Given the description of an element on the screen output the (x, y) to click on. 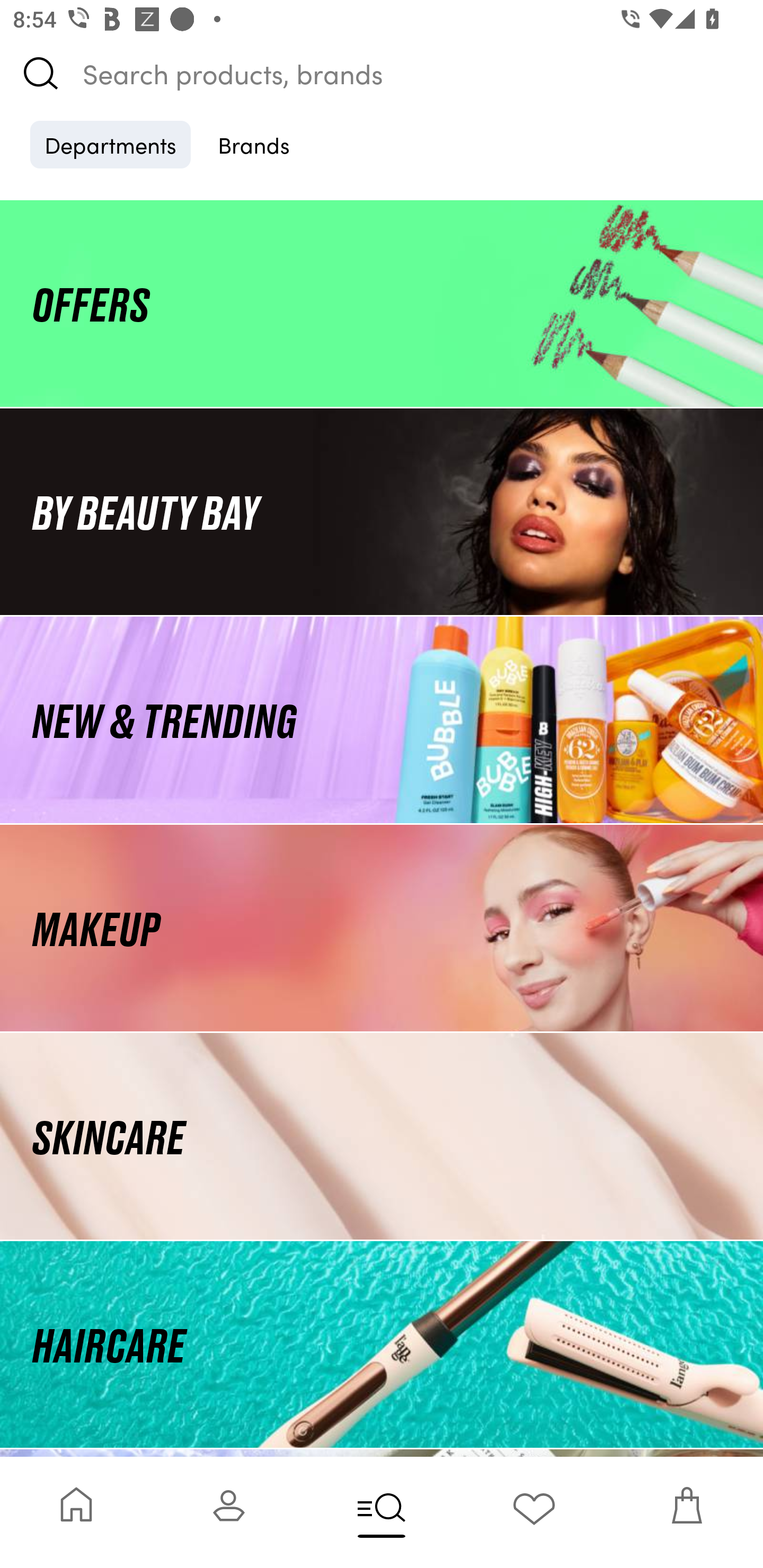
Search products, brands (381, 72)
Departments (110, 143)
Brands (253, 143)
OFFERS (381, 303)
BY BEAUTY BAY (381, 510)
NEW & TRENDING (381, 719)
MAKEUP (381, 927)
SKINCARE (381, 1136)
HAIRCARE (381, 1344)
